Given the description of an element on the screen output the (x, y) to click on. 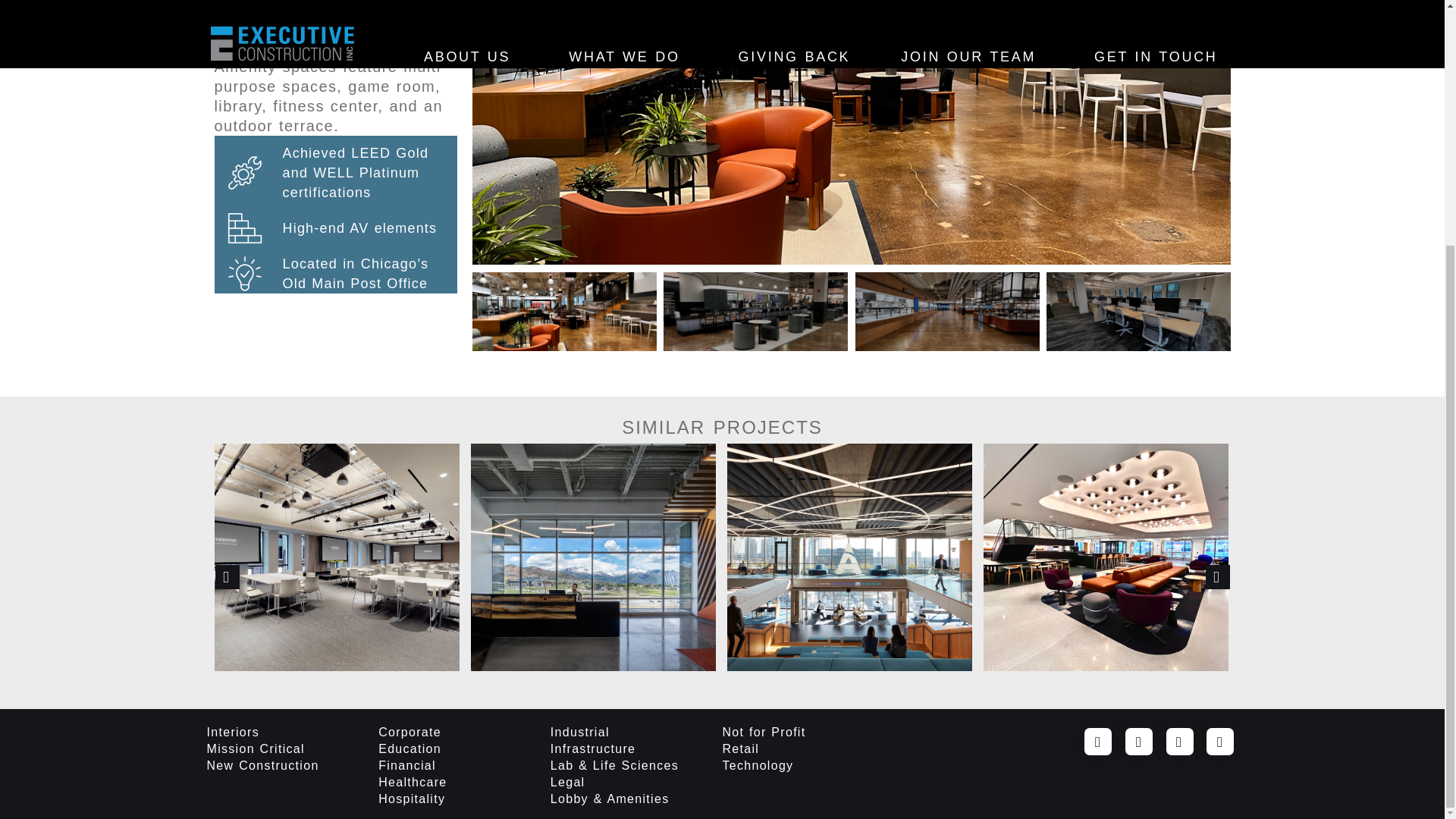
previous item (227, 576)
next item (1217, 576)
